Given the description of an element on the screen output the (x, y) to click on. 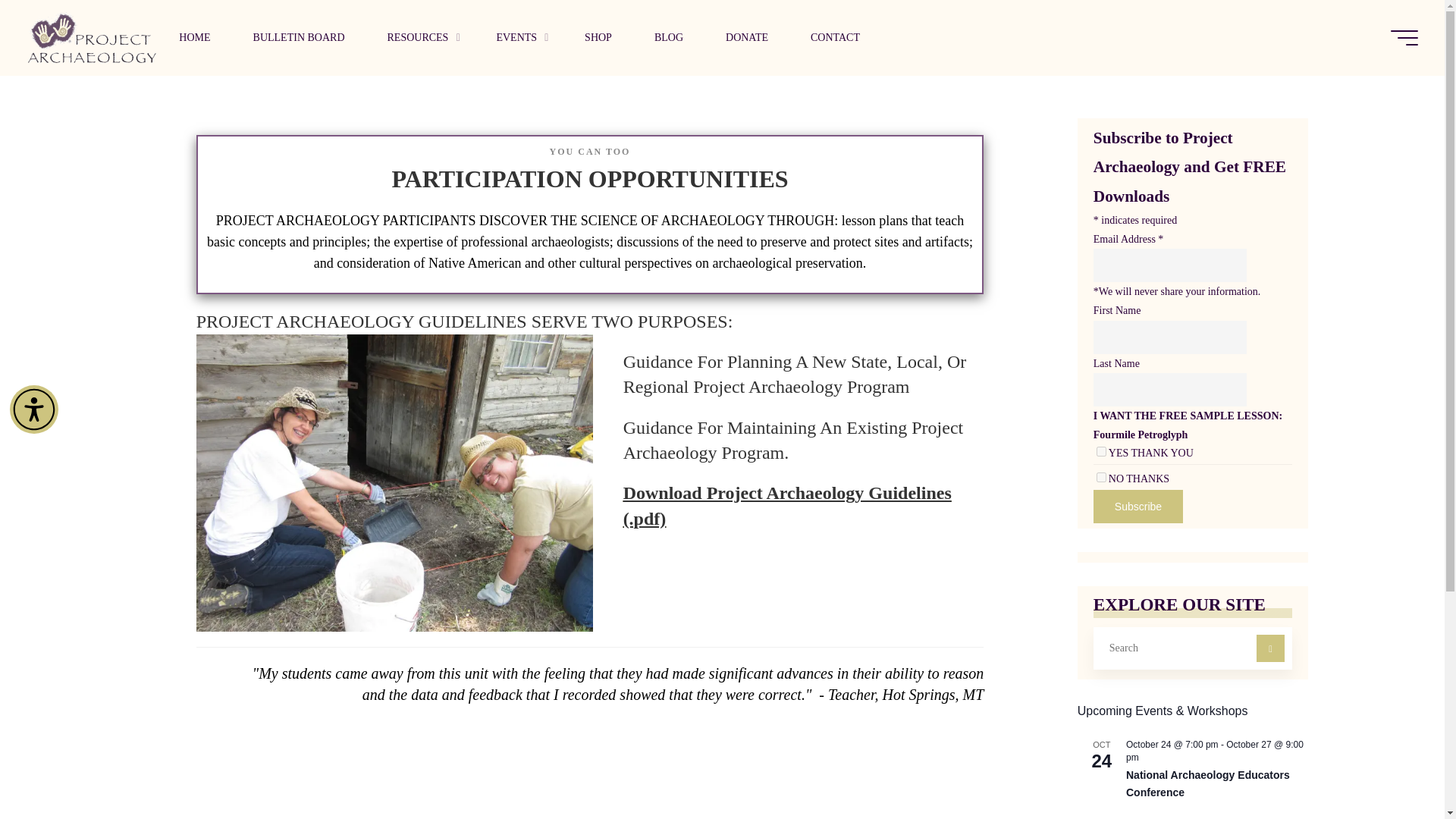
BULLETIN BOARD (298, 38)
National Archaeology Educators Conference (1207, 784)
HOME (194, 38)
PROJECT ARCHAEOLOGY (91, 37)
EVENTS (518, 38)
Accessibility Menu (34, 409)
Subscribe (1137, 506)
RESOURCES (419, 38)
